Given the description of an element on the screen output the (x, y) to click on. 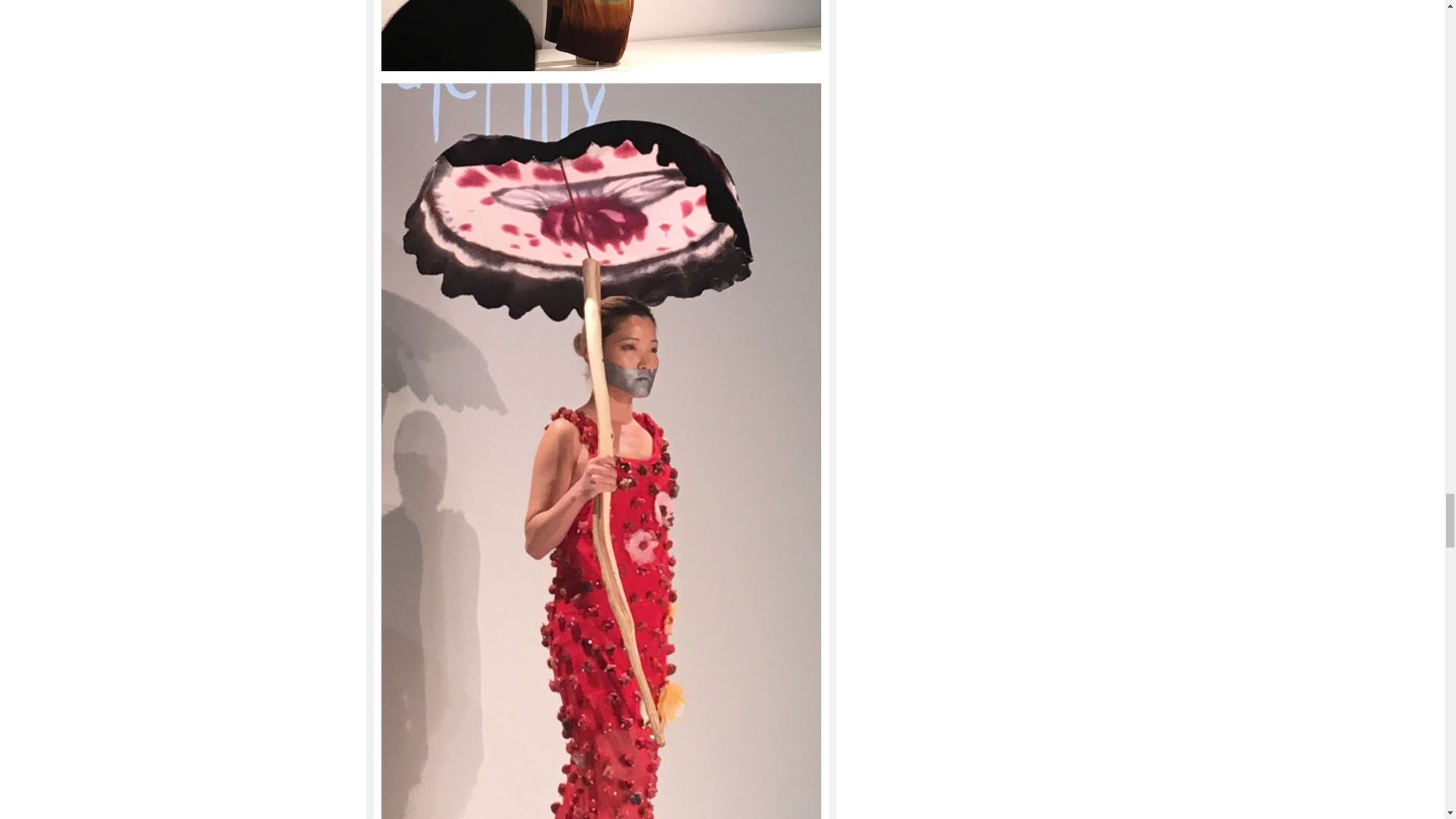
6-patricia-michaels-style-fashion-week-multi-velvet-fringe (600, 35)
